Given the description of an element on the screen output the (x, y) to click on. 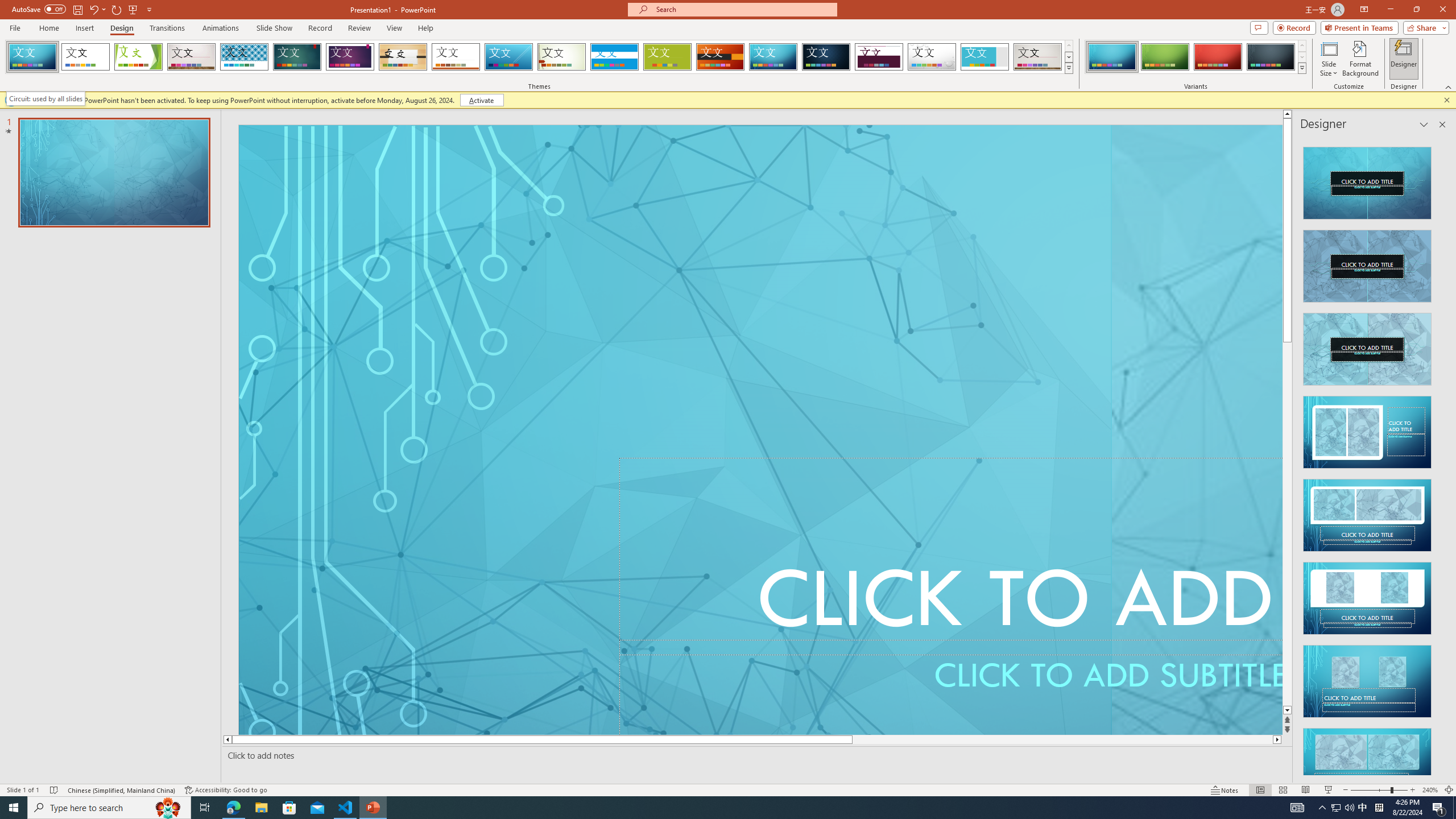
Circuit: used by all slides (45, 98)
Ion (296, 56)
Subtitle TextBox (950, 686)
Zoom 240% (1430, 790)
Variants (1301, 67)
Damask (826, 56)
Themes (1068, 67)
Organic (403, 56)
Wisp (561, 56)
